Given the description of an element on the screen output the (x, y) to click on. 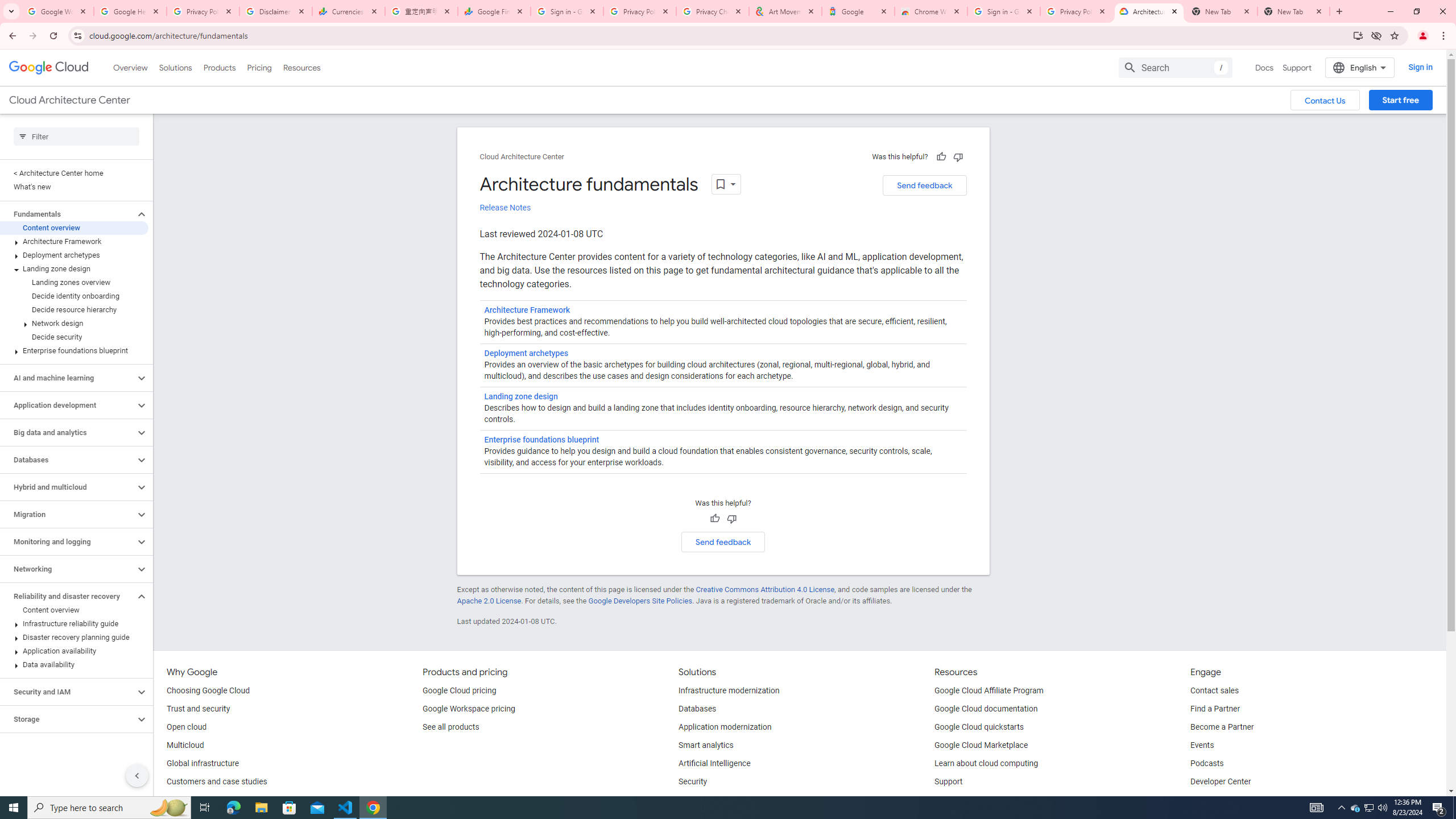
Analyst reports (193, 800)
Install Google Cloud (1358, 35)
Solutions (175, 67)
Decide resource hierarchy (74, 309)
Google Cloud Marketplace (980, 745)
Global infrastructure (201, 764)
Products (218, 67)
Deployment archetypes (74, 255)
Sign in - Google Accounts (566, 11)
Landing zones overview (74, 282)
